Given the description of an element on the screen output the (x, y) to click on. 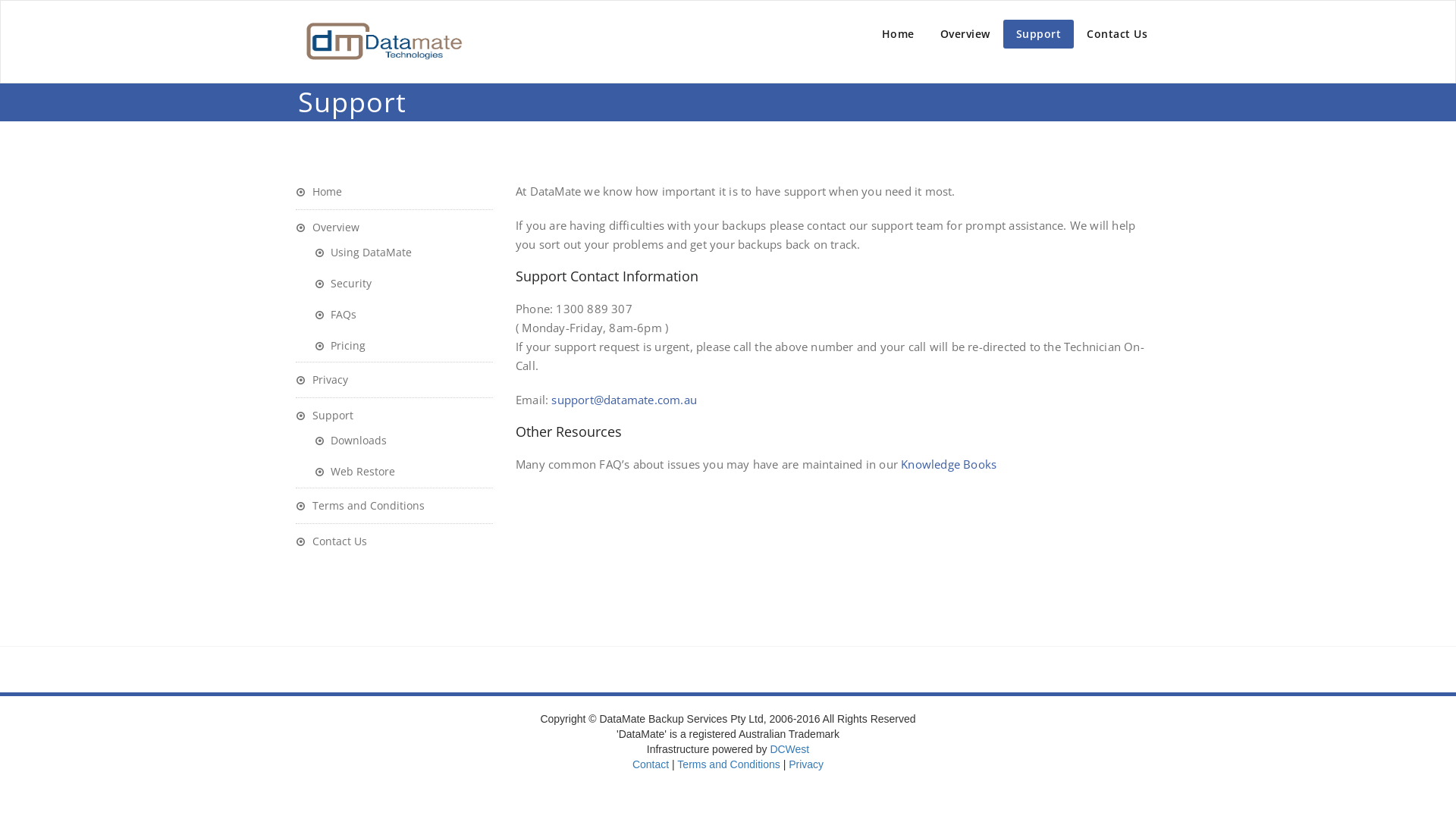
Pricing Element type: text (339, 345)
Home Element type: text (898, 33)
Terms and Conditions Element type: text (359, 505)
Contact Us Element type: text (1116, 33)
Privacy Element type: text (805, 764)
Contact Element type: text (650, 764)
Support Element type: text (324, 414)
DCWest Element type: text (789, 749)
DataMateTechCol Element type: hover (382, 41)
Home Element type: text (318, 191)
Contact Us Element type: text (331, 540)
Overview Element type: text (964, 33)
Support Element type: text (1037, 33)
Web Restore Element type: text (354, 471)
FAQs Element type: text (335, 314)
Downloads Element type: text (350, 440)
Knowledge Books Element type: text (948, 463)
Privacy Element type: text (321, 379)
Overview Element type: text (327, 226)
Terms and Conditions Element type: text (728, 764)
Security Element type: text (342, 283)
support@datamate.com.au Element type: text (623, 399)
Using DataMate Element type: text (362, 251)
